Given the description of an element on the screen output the (x, y) to click on. 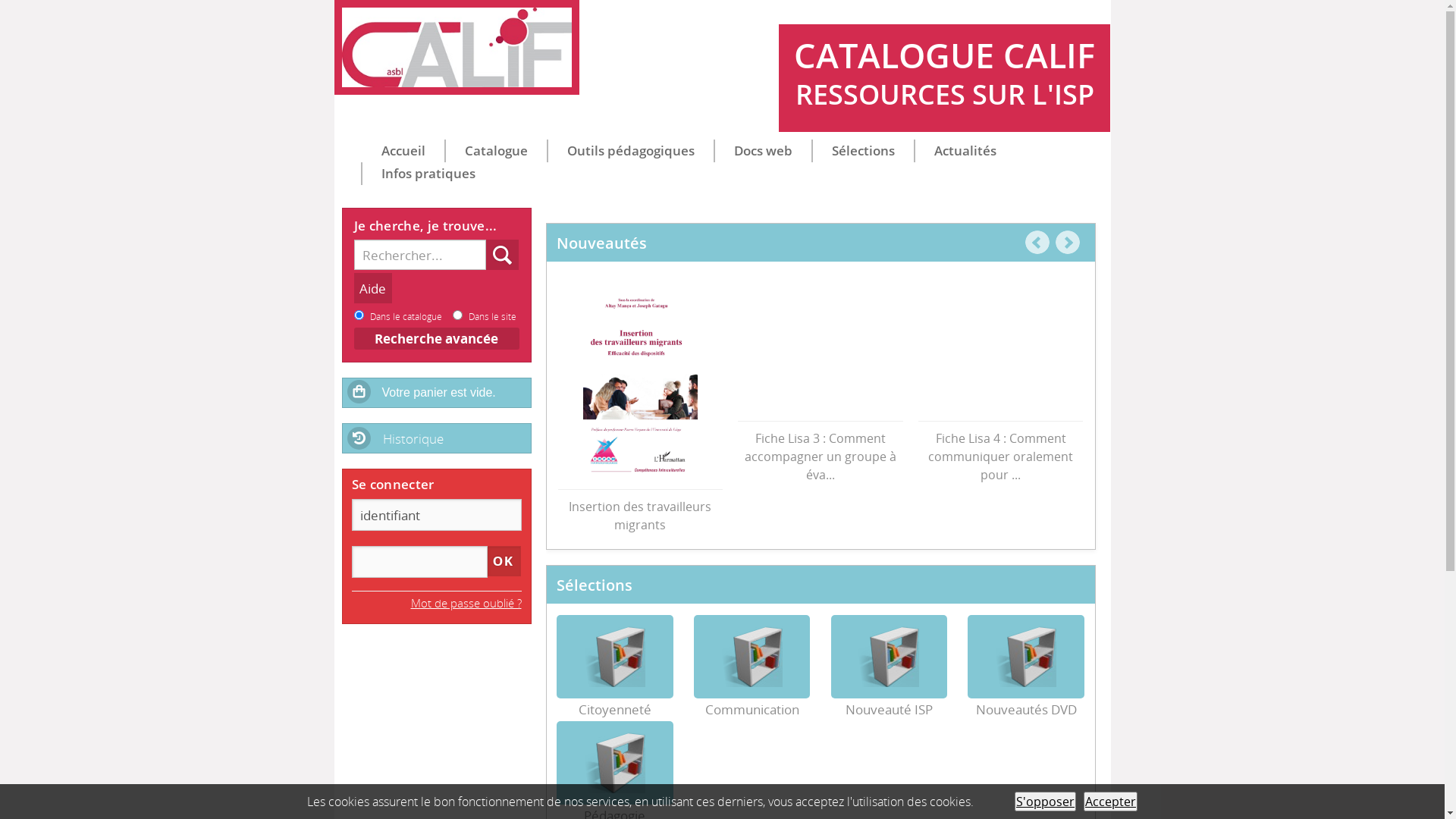
ok Element type: text (504, 561)
Insertion des travailleurs migrants Element type: hover (640, 382)
Suivant Element type: text (1067, 242)
Aide Element type: text (372, 288)
Rechercher Element type: text (502, 254)
Infos pratiques Element type: text (428, 173)
Docs web Element type: text (762, 150)
Communication Element type: text (751, 709)
Communication Element type: hover (751, 656)
Accueil Element type: text (403, 150)
Accepter Element type: text (1110, 801)
Fiche Lisa 4 : Comment communiquer oralement pour ... Element type: text (1000, 451)
Historique Element type: text (436, 436)
S'opposer Element type: text (1045, 801)
CATALOGUE CALIF Element type: hover (456, 47)
Insertion des travailleurs migrants Element type: text (640, 511)
Catalogue Element type: text (495, 150)
Prev Element type: text (1037, 242)
